Given the description of an element on the screen output the (x, y) to click on. 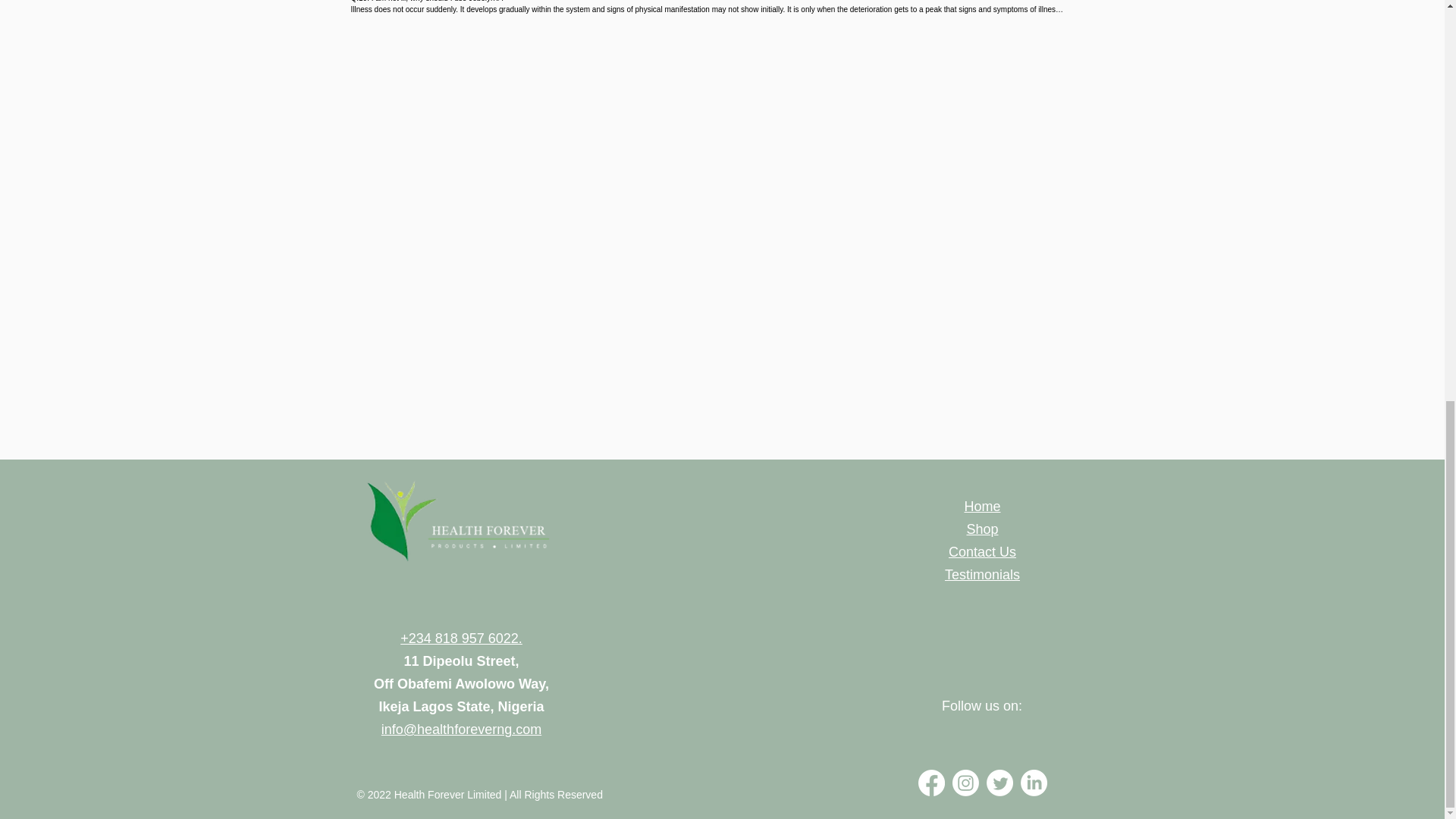
Home (981, 506)
Shop (981, 529)
Testimonials (982, 574)
Contact Us (982, 551)
